Given the description of an element on the screen output the (x, y) to click on. 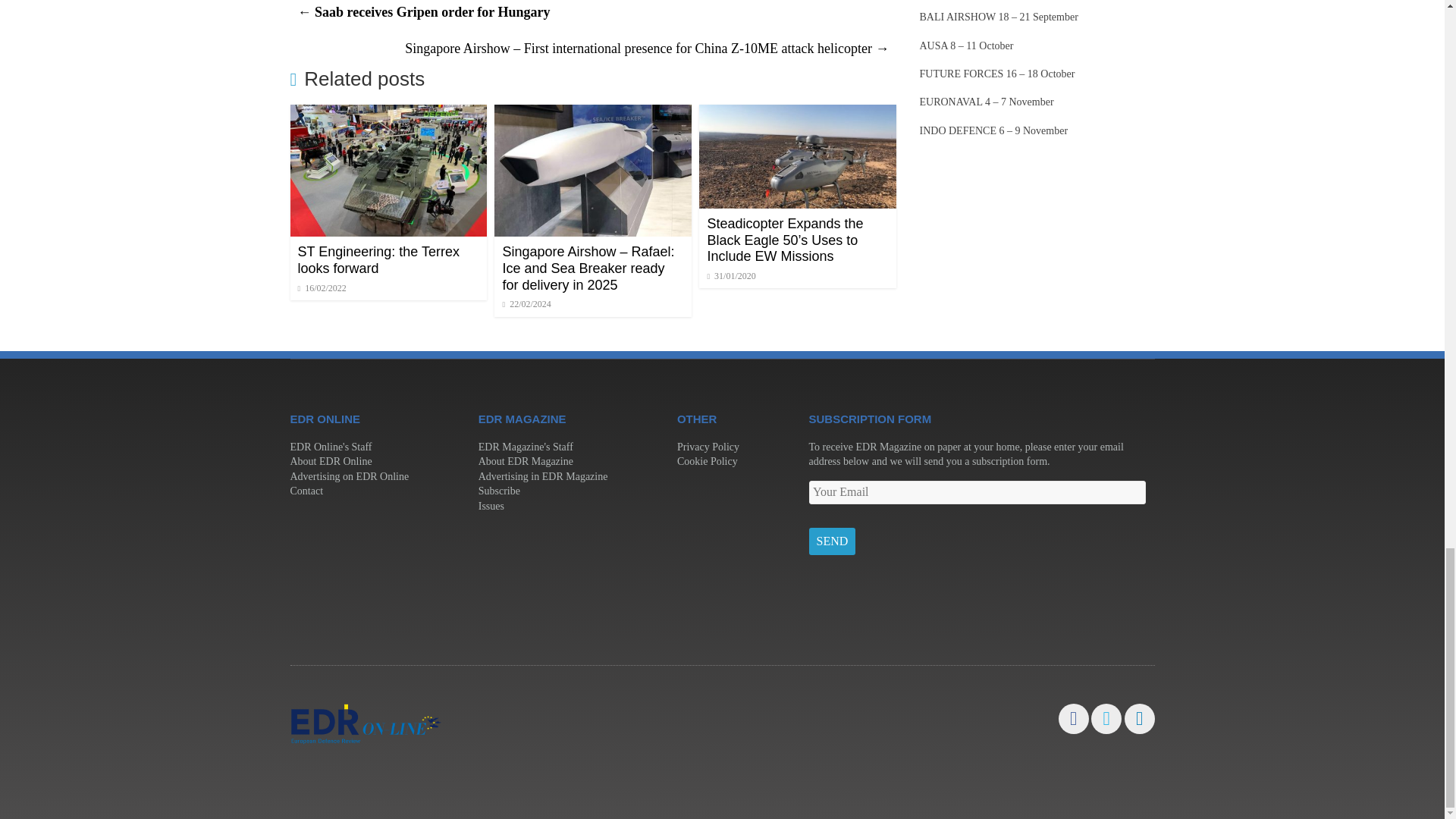
18:31 (321, 287)
ST Engineering: the Terrex looks forward (377, 260)
ST Engineering: the Terrex looks forward (387, 113)
SEND (832, 541)
